Given the description of an element on the screen output the (x, y) to click on. 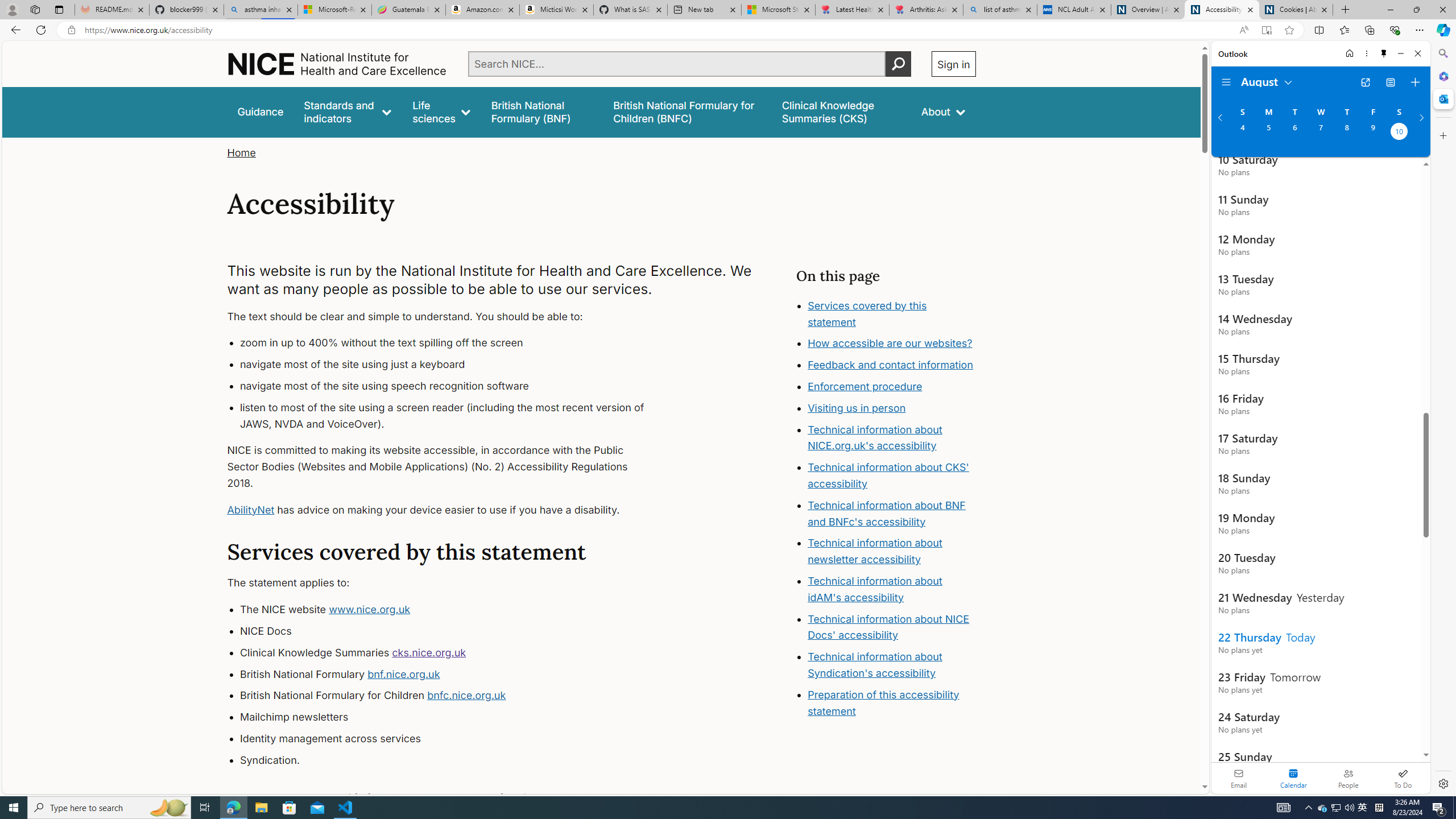
Clinical Knowledge Summaries cks.nice.org.uk (452, 652)
Selected calendar module. Date today is 22 (1293, 777)
www.nice.org.uk (369, 609)
Monday, August 5, 2024.  (1268, 132)
Technical information about idAM's accessibility (875, 588)
